Given the description of an element on the screen output the (x, y) to click on. 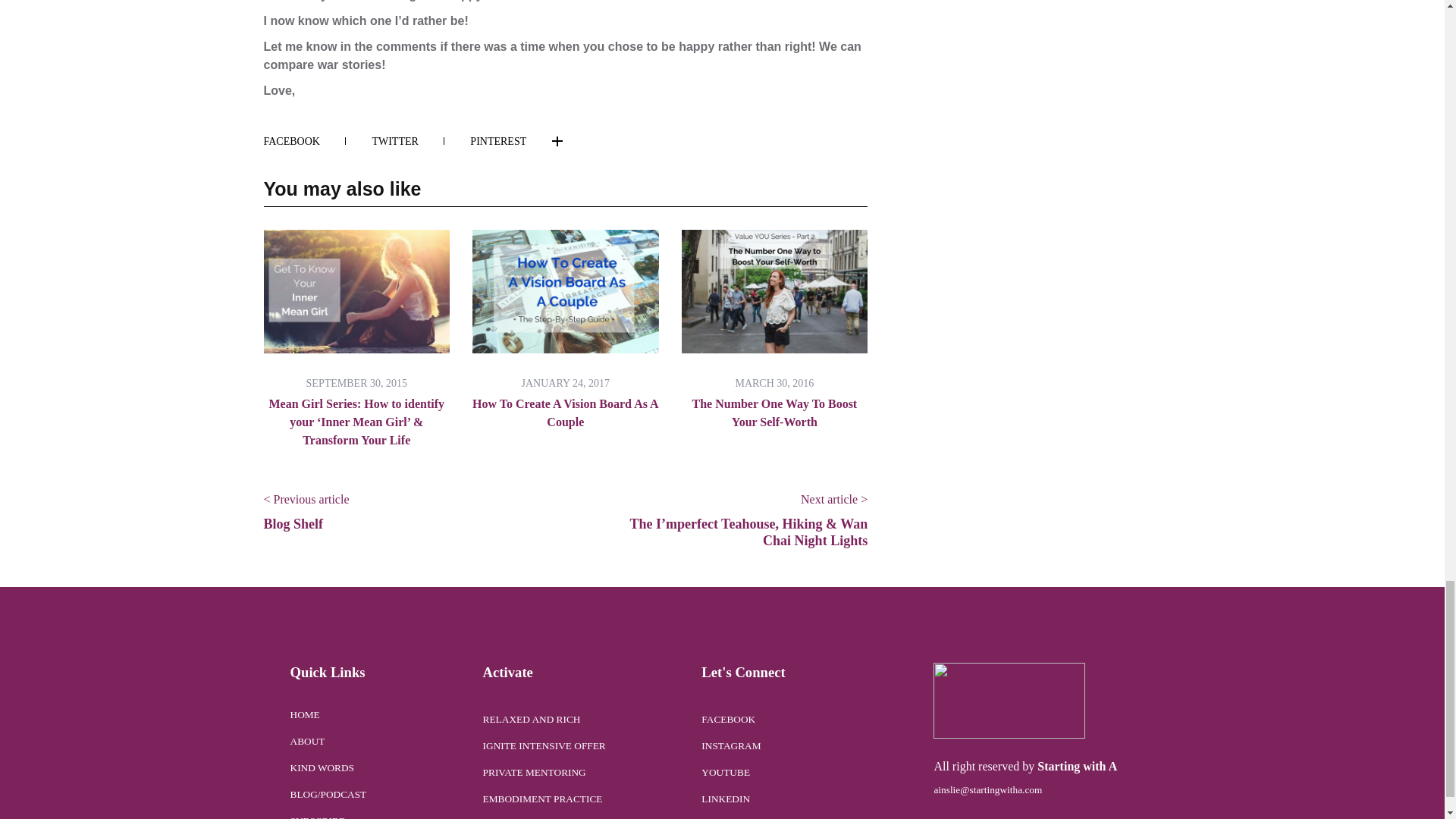
Starting with A - Seconday 2 - White (1008, 700)
PINTEREST (497, 141)
LINKEDIN (596, 130)
FACEBOOK (304, 141)
The Number One Way To Boost Your Self-Worth (775, 412)
TWITTER (407, 141)
How To Create A Vision Board As A Couple (565, 412)
